Given the description of an element on the screen output the (x, y) to click on. 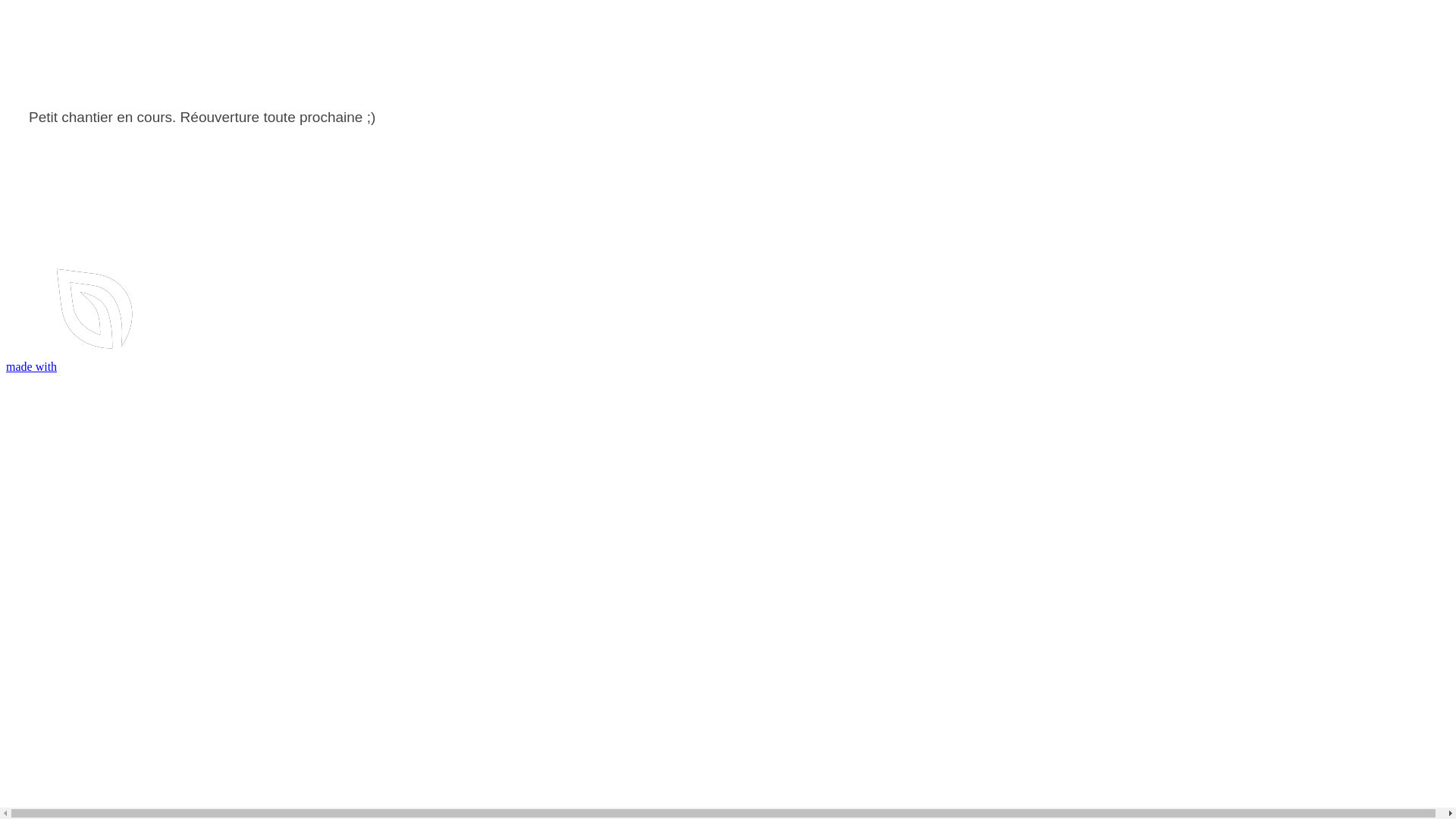
made with Element type: text (244, 366)
